Given the description of an element on the screen output the (x, y) to click on. 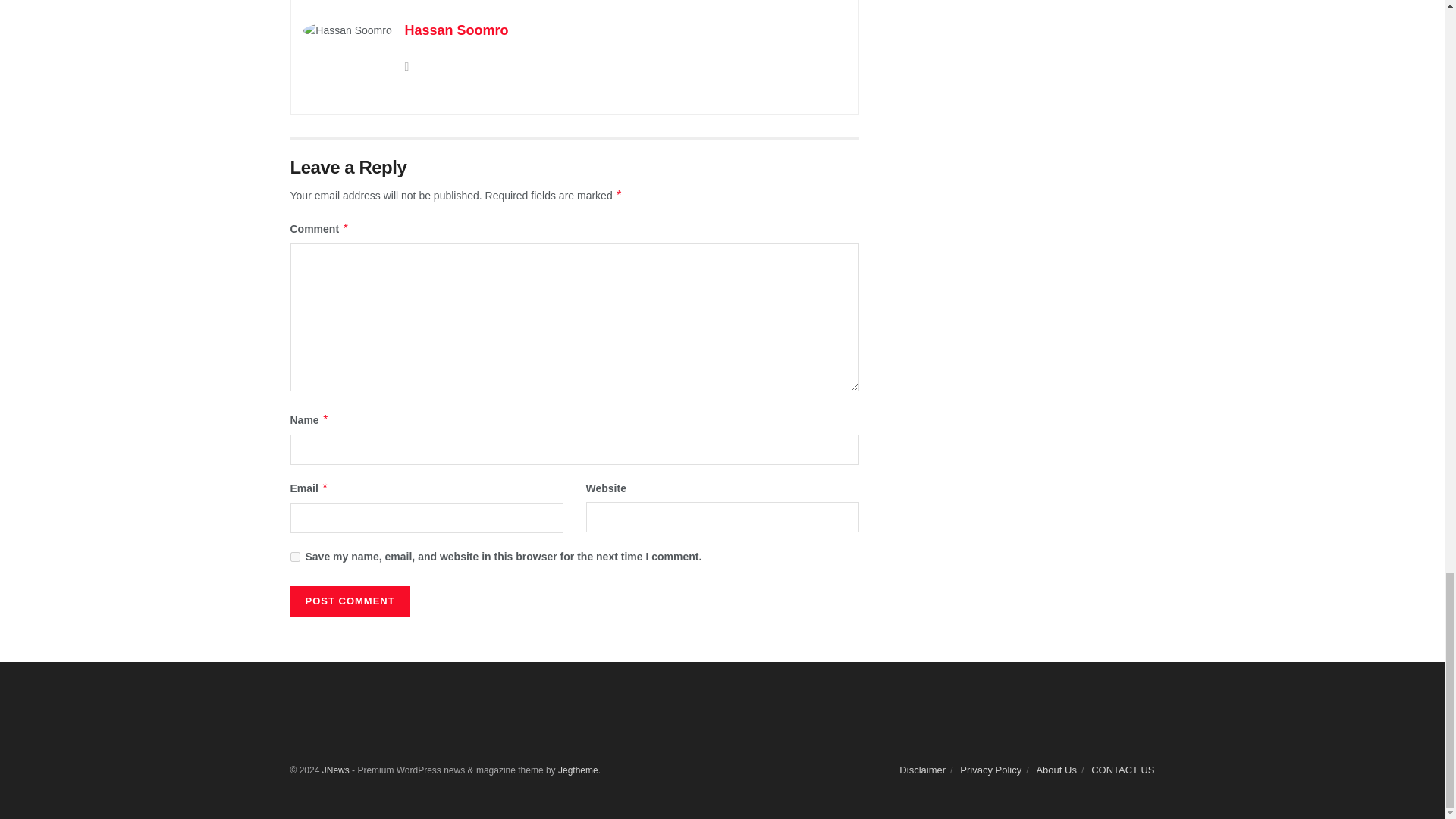
yes (294, 556)
Post Comment (349, 601)
Jegtheme (577, 769)
